Given the description of an element on the screen output the (x, y) to click on. 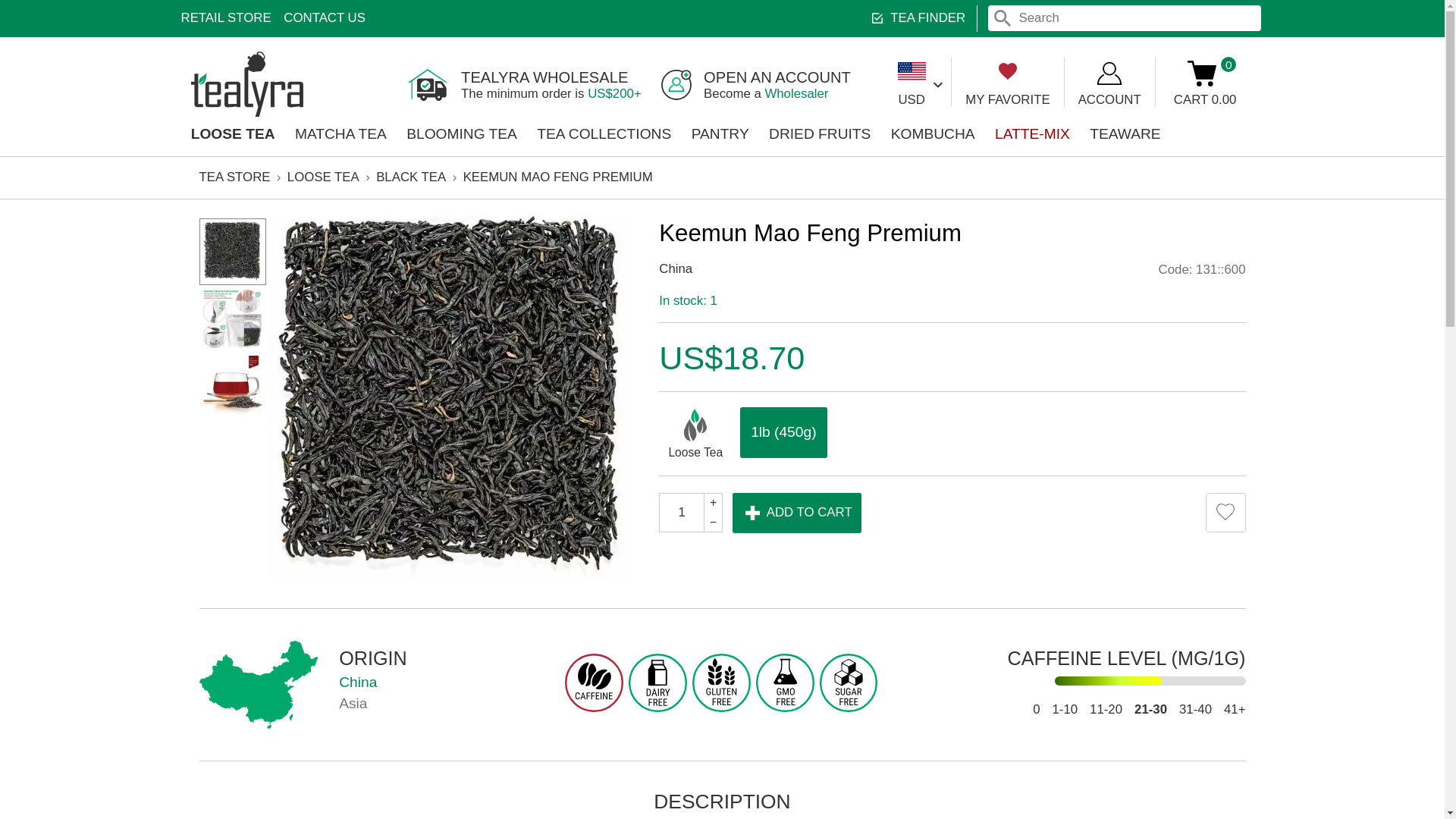
TEA FINDER (764, 15)
1 (567, 426)
ACCOUNT (924, 68)
MY FAVORITE (839, 68)
LOOSE TEA (1004, 68)
RETAIL STORE (194, 111)
Tealyra (188, 15)
Wholesaler (207, 70)
CONTACT US (663, 78)
USD (269, 15)
